Given the description of an element on the screen output the (x, y) to click on. 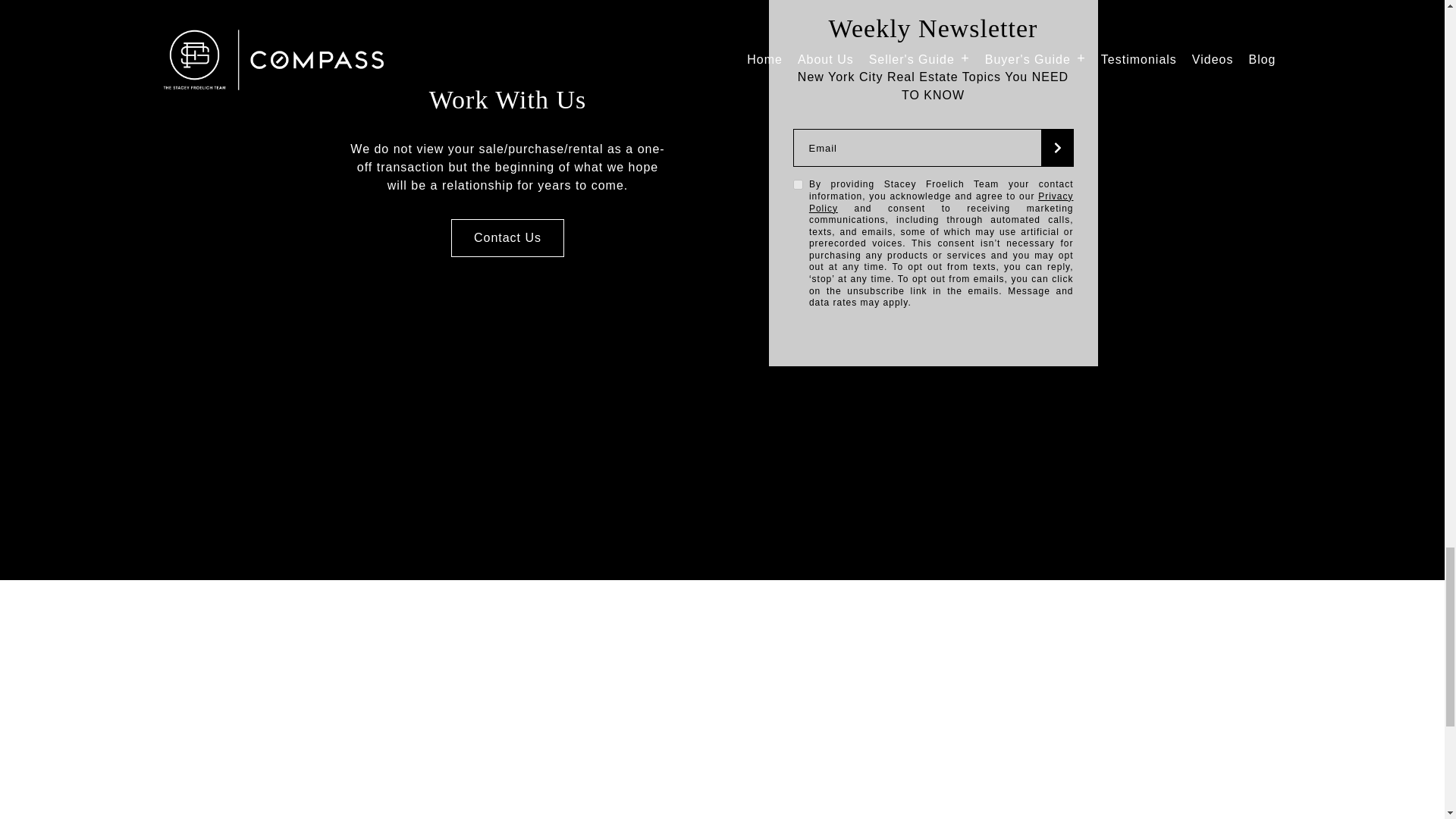
on (798, 184)
Contact Us (507, 238)
Privacy Policy (941, 201)
